Given the description of an element on the screen output the (x, y) to click on. 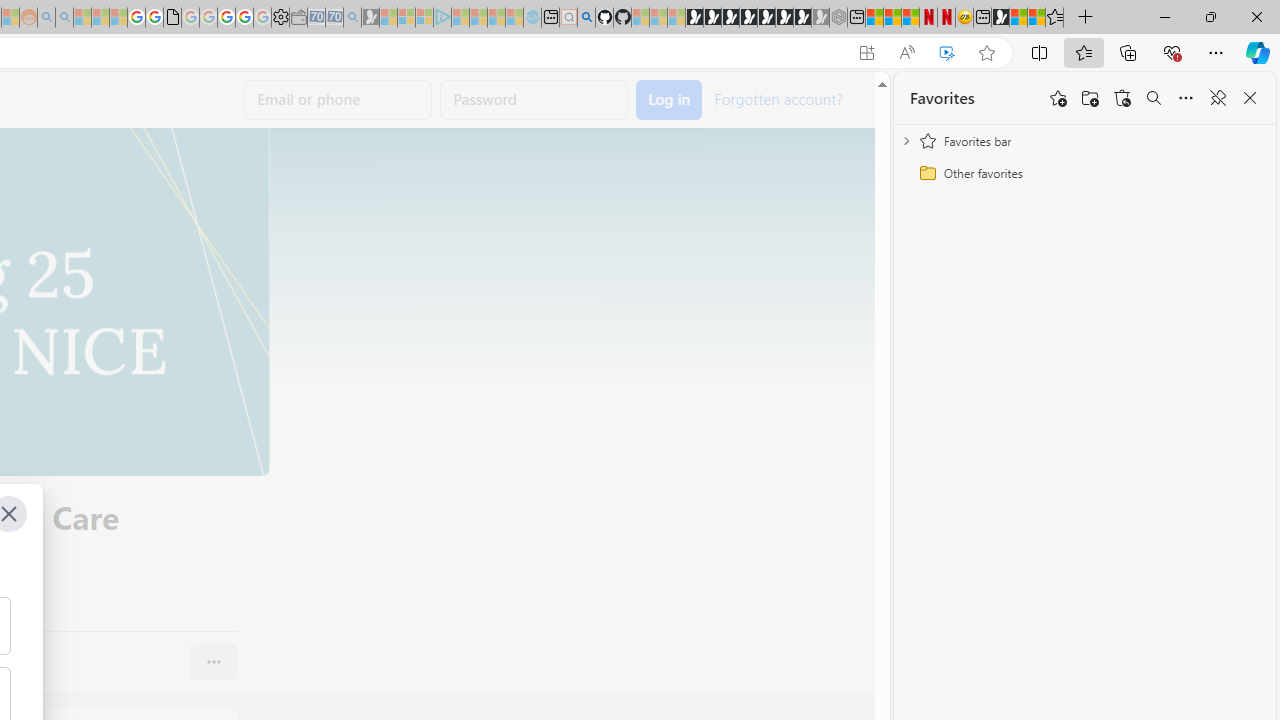
Unpin favorites (1217, 98)
Enhance video (946, 53)
Wildlife - MSN (1017, 17)
